Given the description of an element on the screen output the (x, y) to click on. 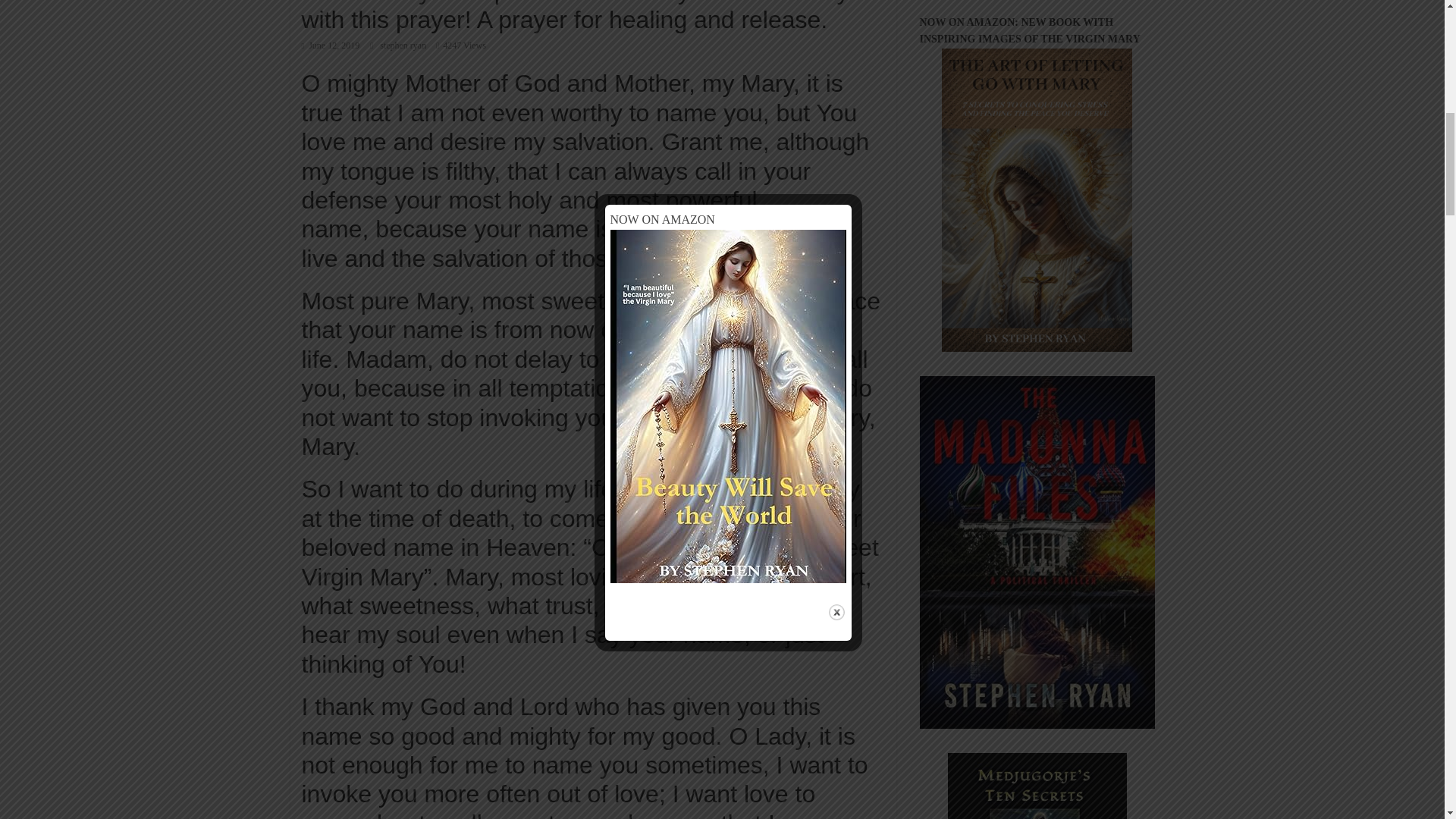
stephen ryan (404, 45)
stephen ryan (404, 45)
June 12, 2019 (330, 45)
6:28 am (330, 45)
